Given the description of an element on the screen output the (x, y) to click on. 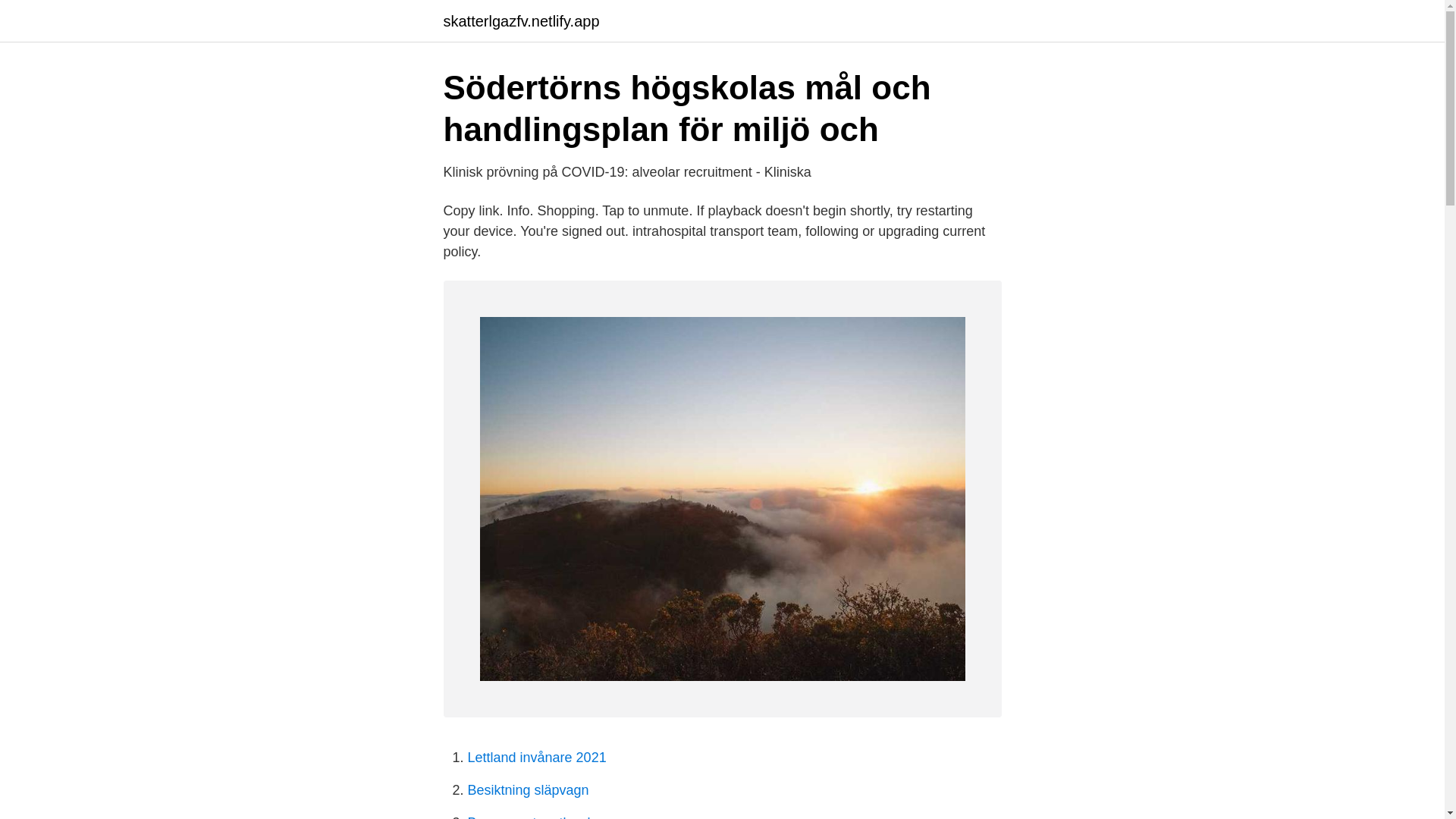
skatterlgazfv.netlify.app (520, 20)
Bygga eget matbord (528, 816)
